Given the description of an element on the screen output the (x, y) to click on. 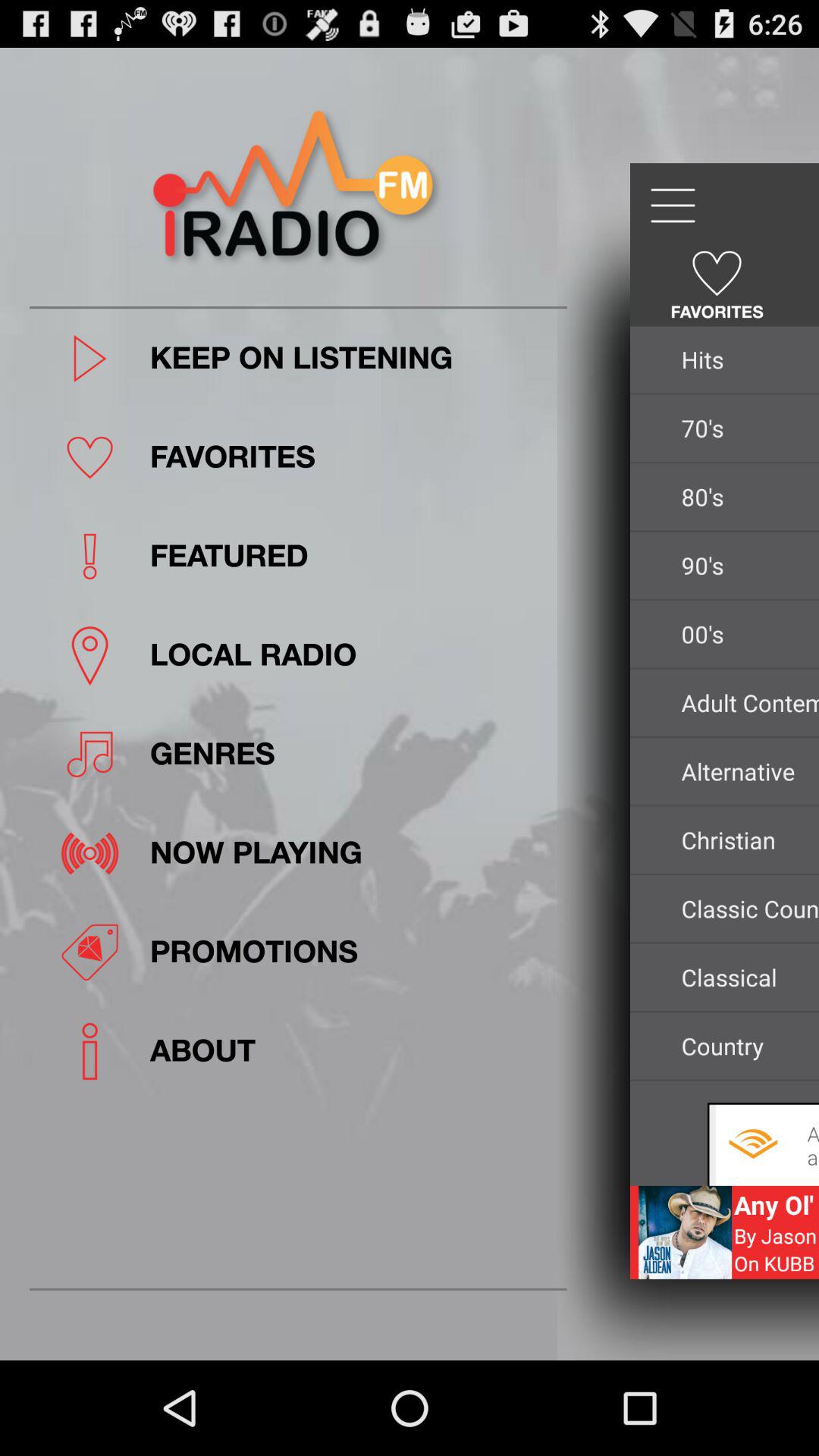
open promotions icon (353, 952)
